Given the description of an element on the screen output the (x, y) to click on. 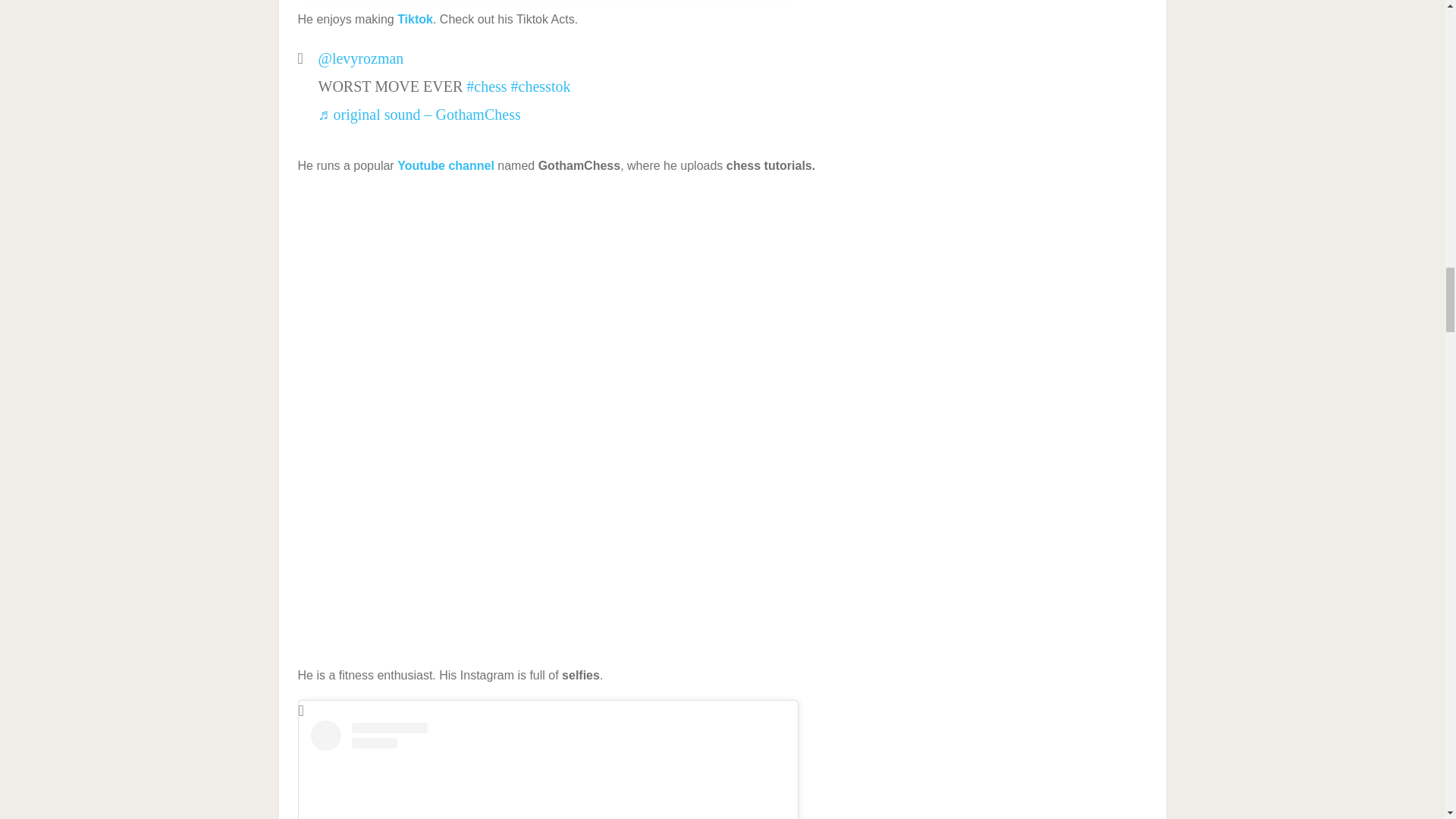
Youtube channel (446, 164)
View this post on Instagram (548, 769)
chesstok (540, 86)
Tiktok (414, 19)
chess (485, 86)
